Given the description of an element on the screen output the (x, y) to click on. 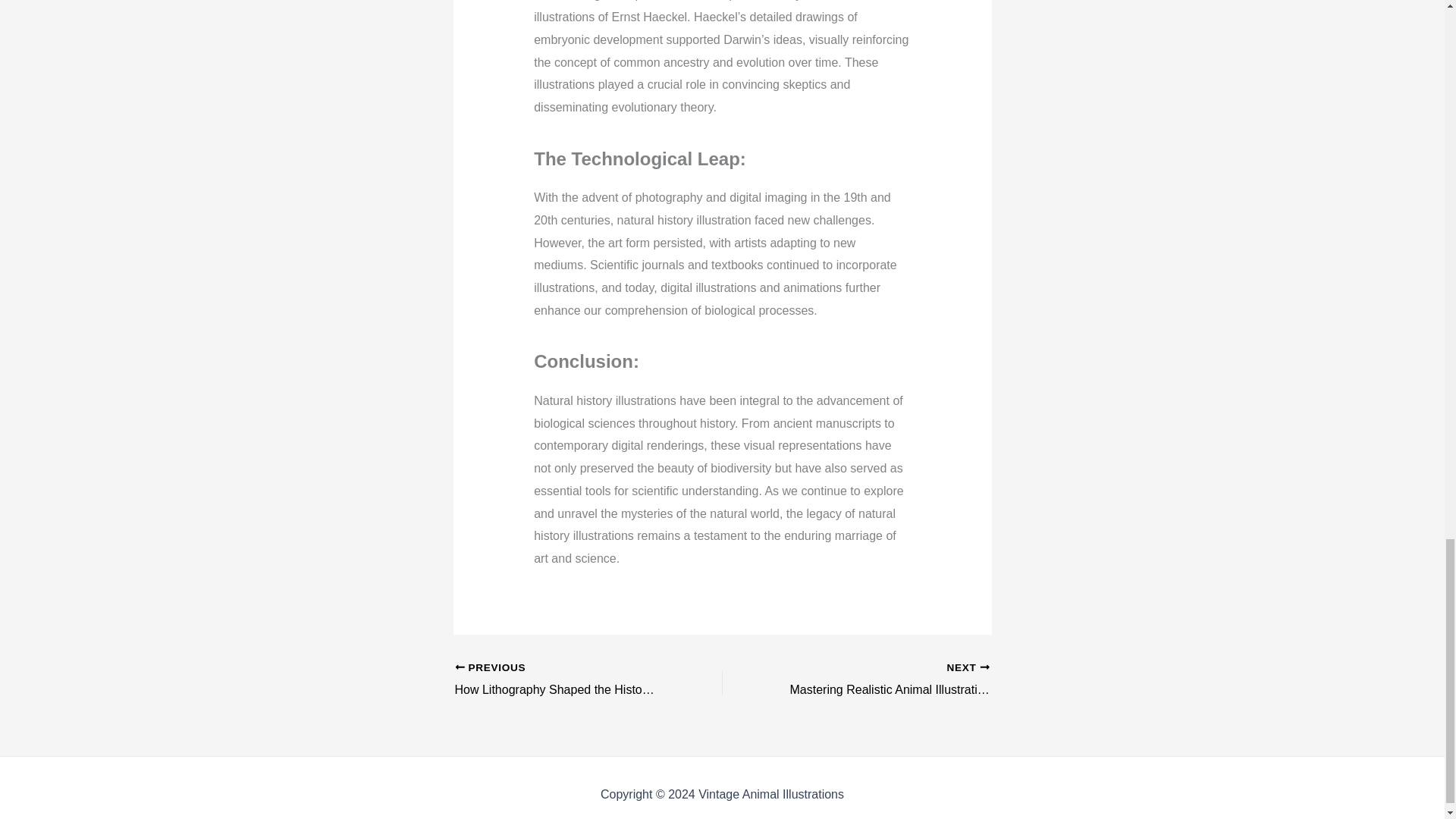
How Lithography Shaped the History of Biology Illustrations (561, 680)
